Given the description of an element on the screen output the (x, y) to click on. 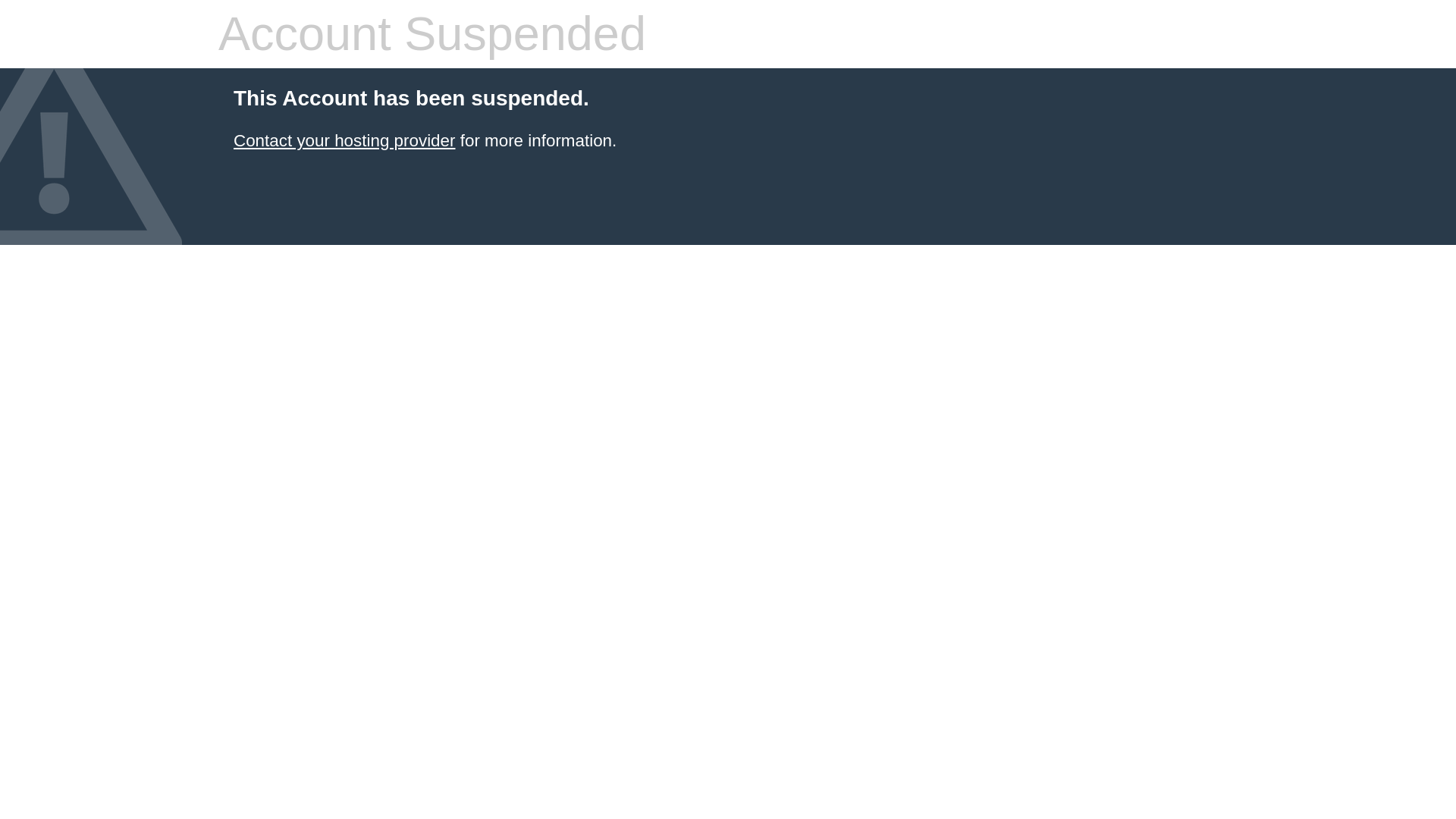
Contact your hosting provider (343, 140)
